Given the description of an element on the screen output the (x, y) to click on. 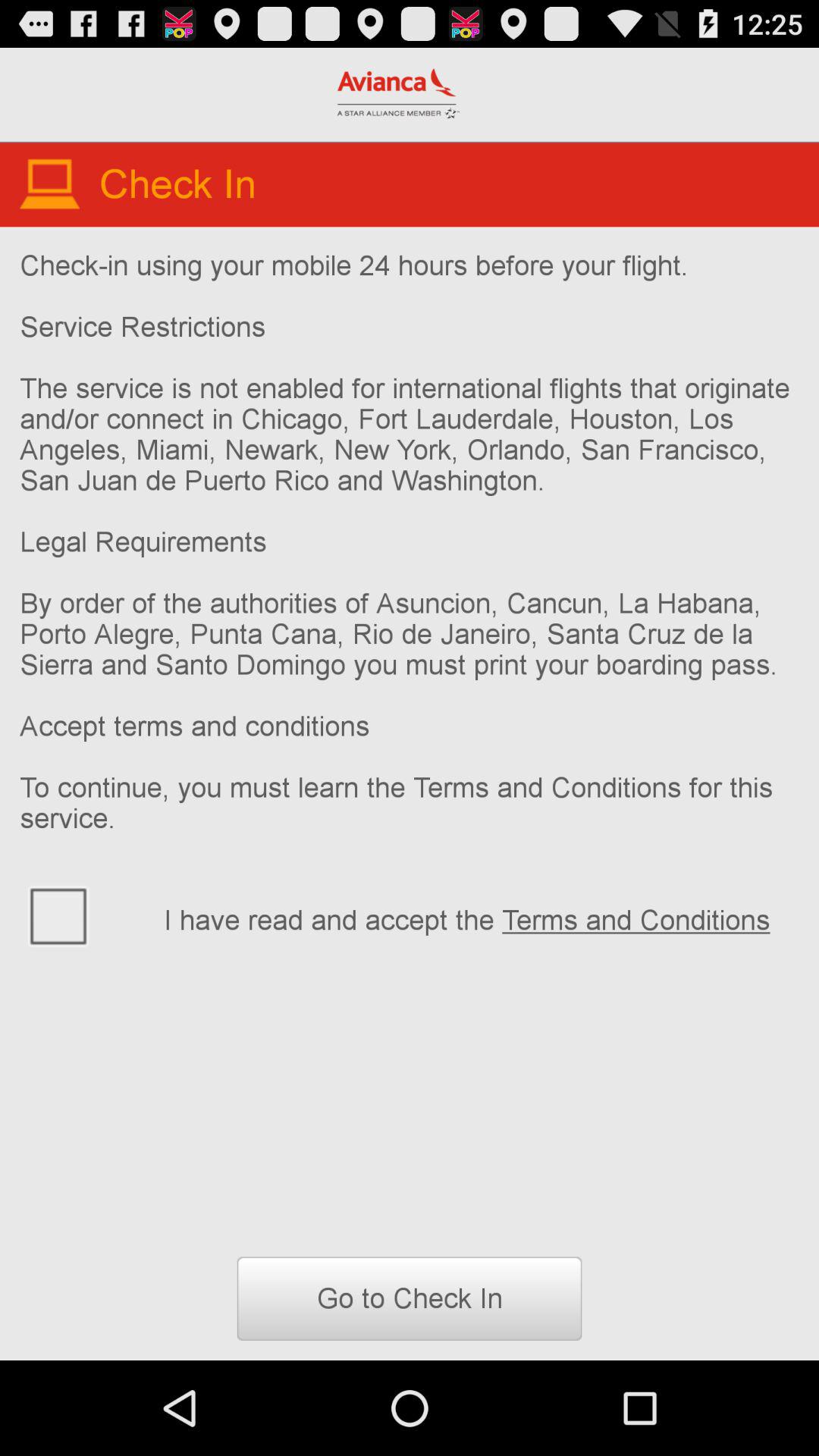
click i have read app (481, 917)
